Given the description of an element on the screen output the (x, y) to click on. 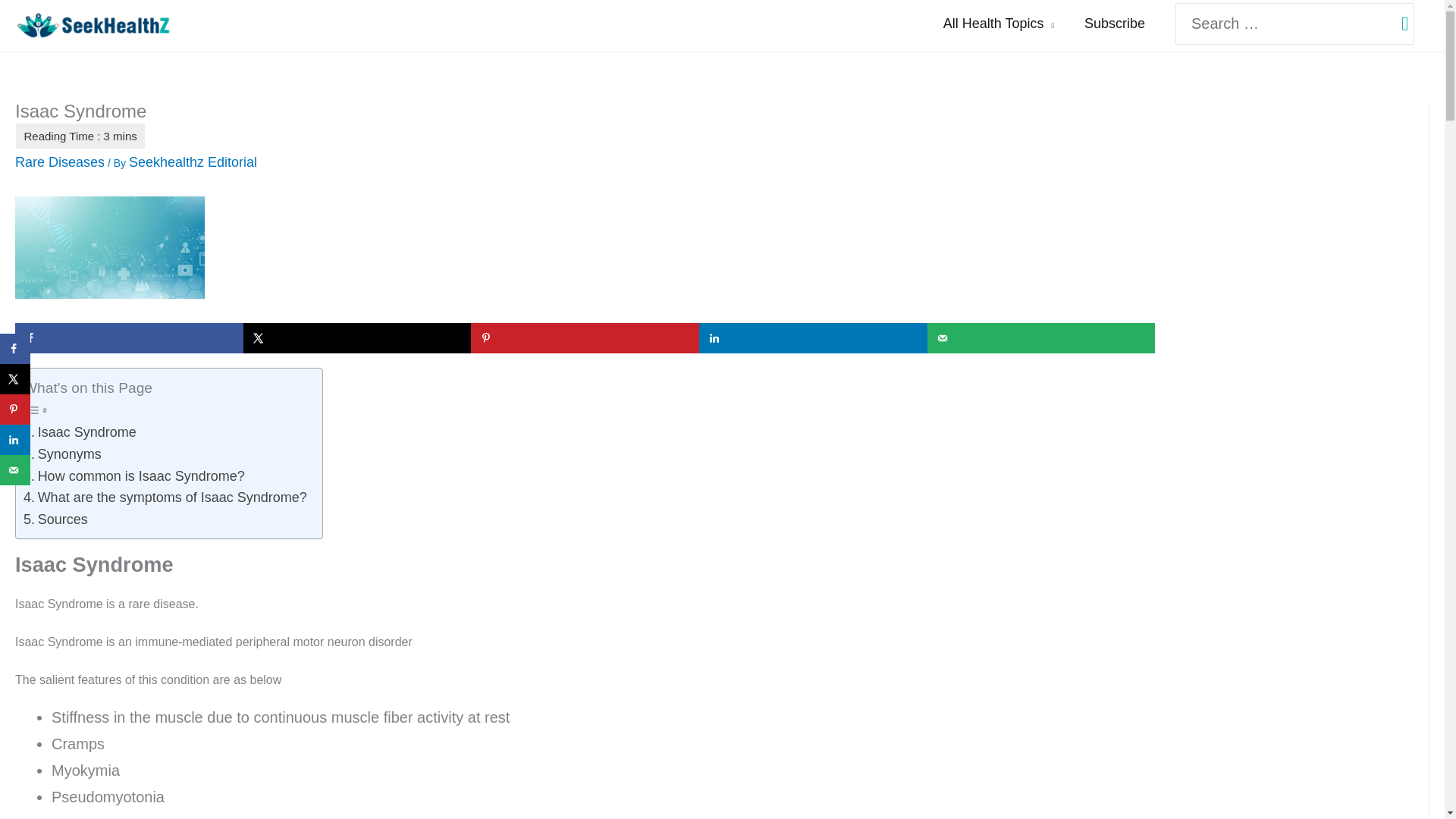
Sources (55, 519)
Subscribe (1114, 23)
Save to Pinterest (584, 337)
All Health Topics (998, 23)
Share on LinkedIn (812, 337)
Sources (55, 519)
Send over email (1041, 337)
Isaac Syndrome (79, 432)
Share on X (357, 337)
Synonyms (62, 454)
